Given the description of an element on the screen output the (x, y) to click on. 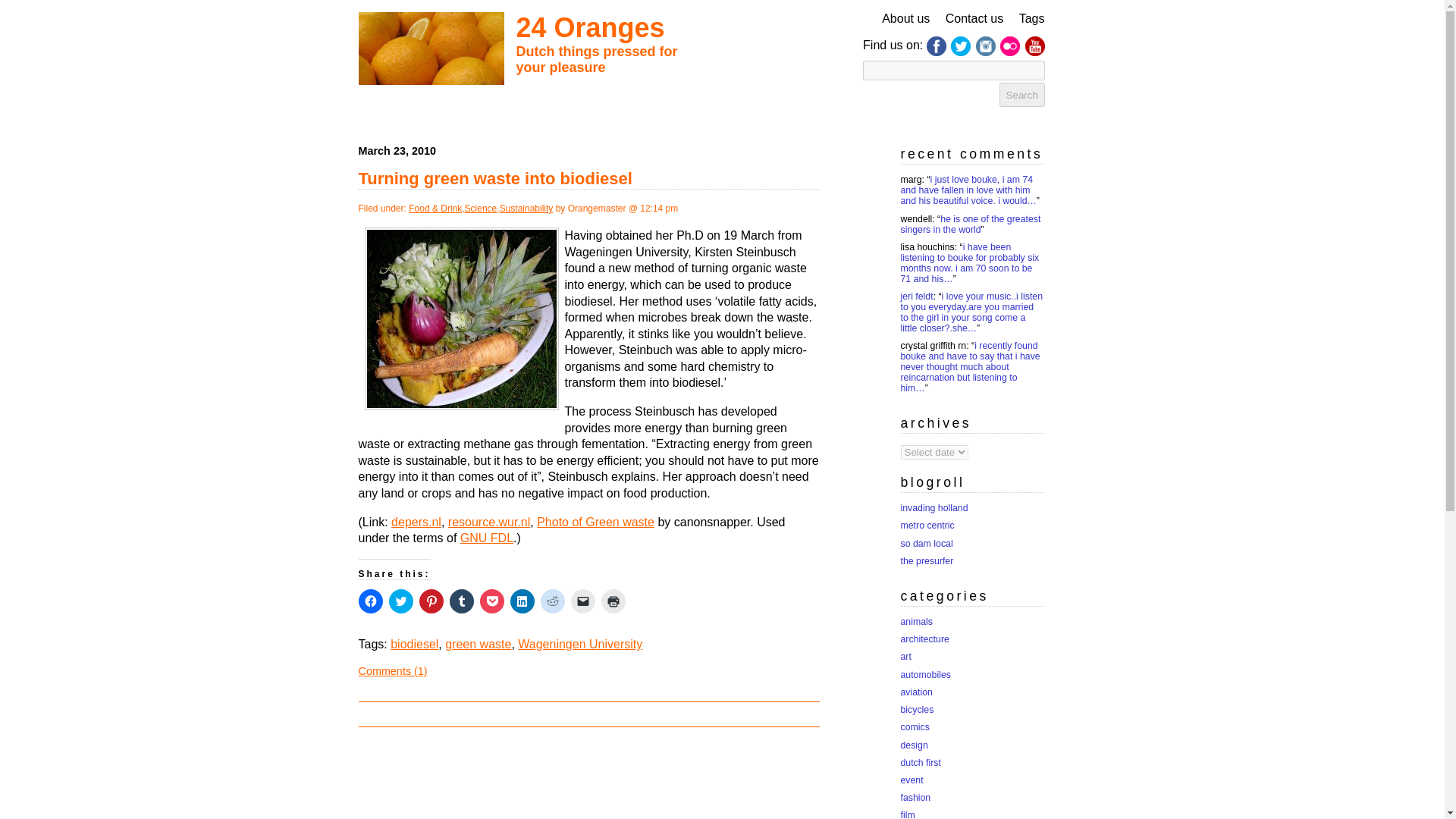
24 Oranges (589, 27)
biodiesel (414, 644)
resource.wur.nl (489, 521)
Turning green waste into biodiesel (494, 178)
Search (1021, 94)
About us (906, 18)
Wageningen University (580, 644)
depers.nl (416, 521)
Photo of Green waste (595, 521)
Sustainability (526, 208)
